Given the description of an element on the screen output the (x, y) to click on. 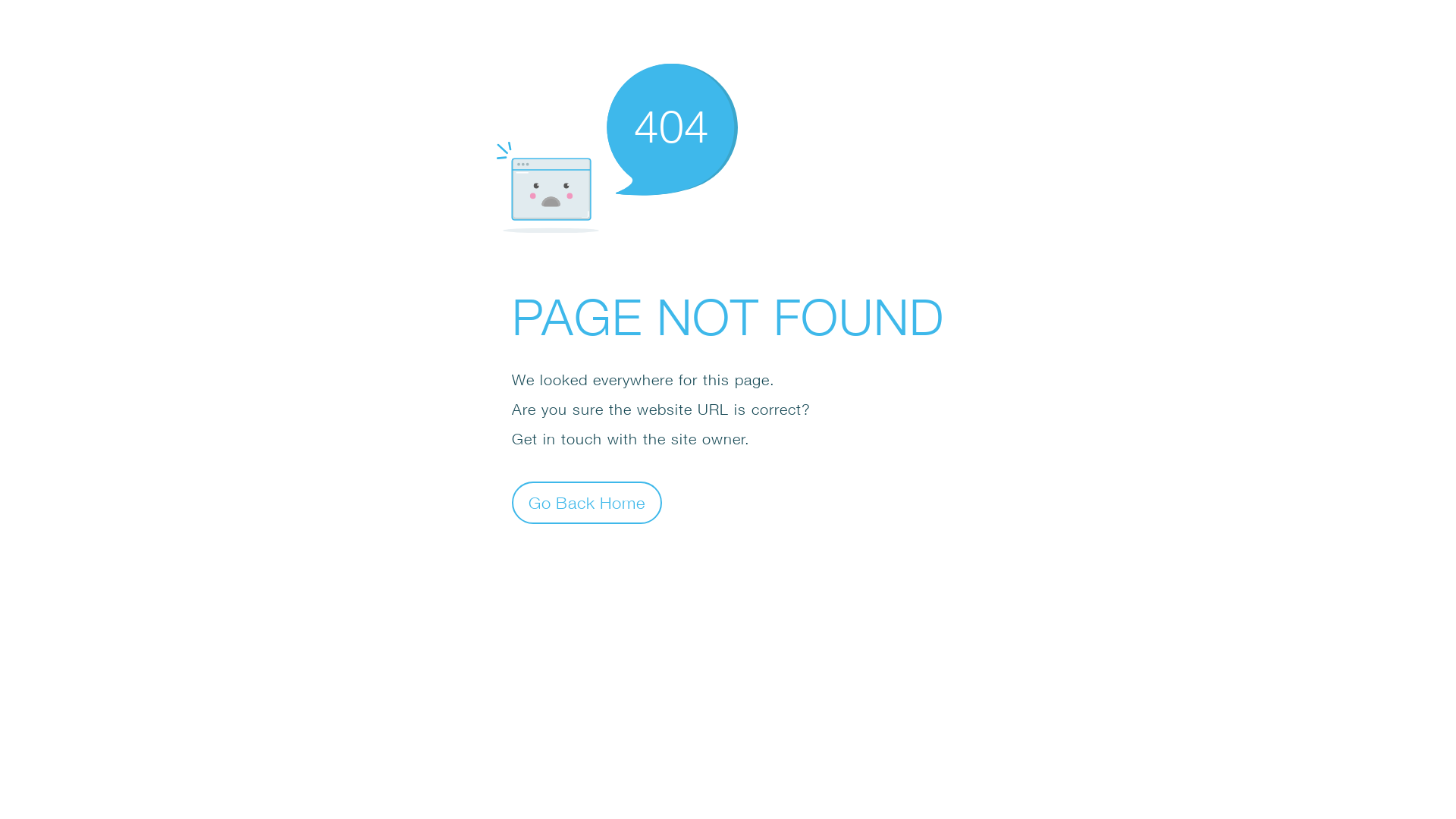
Go Back Home Element type: text (586, 502)
